Given the description of an element on the screen output the (x, y) to click on. 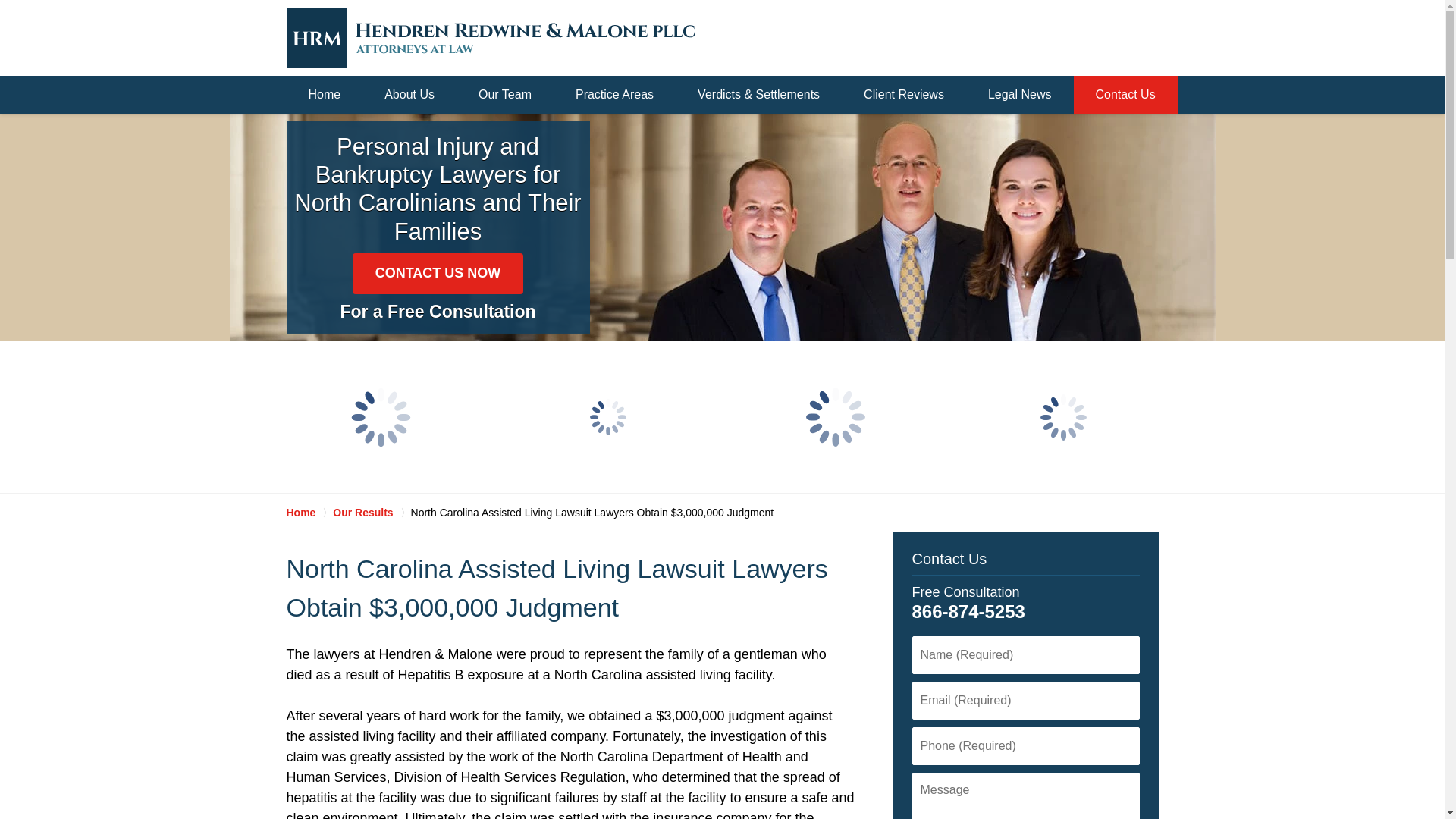
Contact Us (949, 558)
Contact Us (1125, 94)
Home (309, 512)
Legal News (1020, 94)
Practice Areas (614, 94)
Client Reviews (903, 94)
Back to Home (490, 37)
Home (324, 94)
CONTACT US NOW (438, 273)
About Us (409, 94)
